Given the description of an element on the screen output the (x, y) to click on. 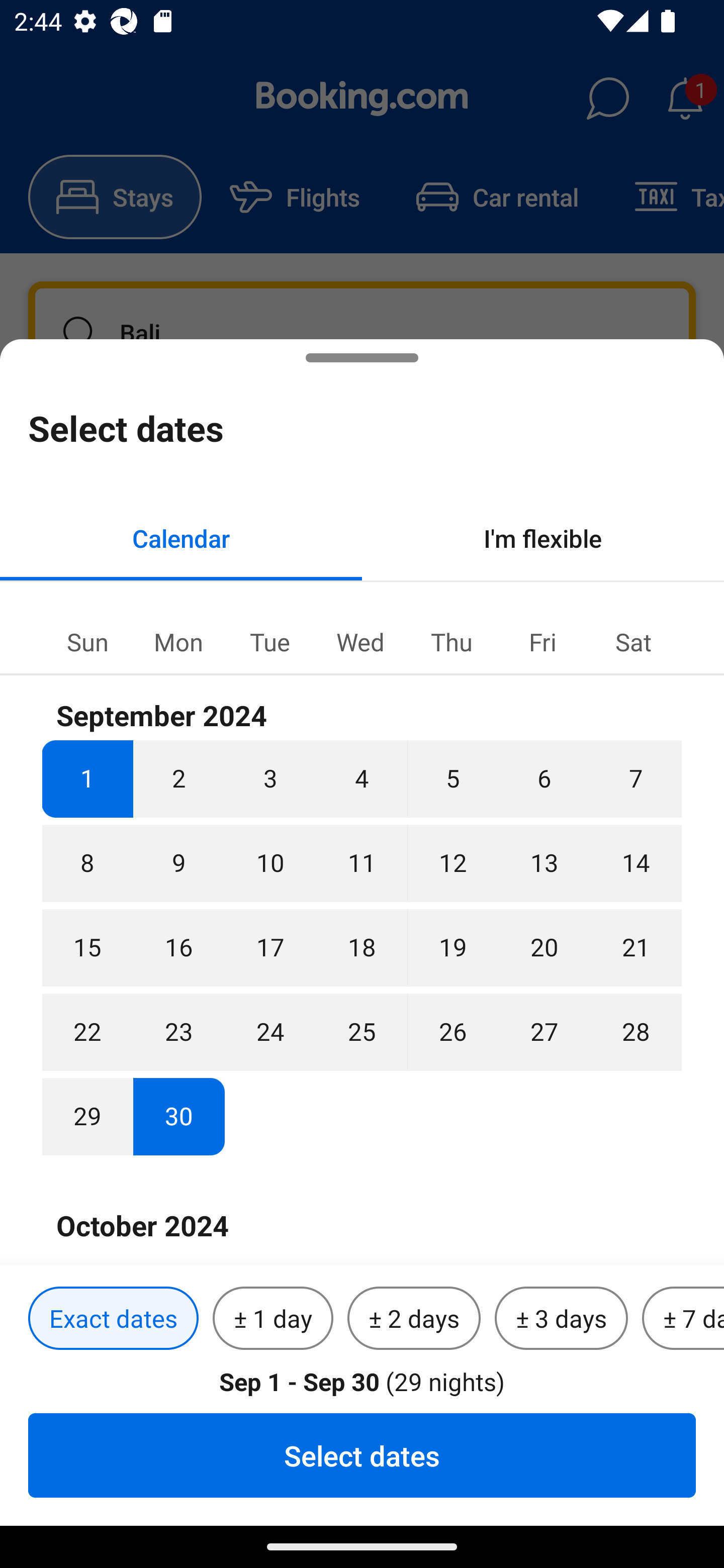
I'm flexible (543, 537)
Exact dates (113, 1318)
± 1 day (272, 1318)
± 2 days (413, 1318)
± 3 days (560, 1318)
± 7 days (683, 1318)
Select dates (361, 1454)
